Given the description of an element on the screen output the (x, y) to click on. 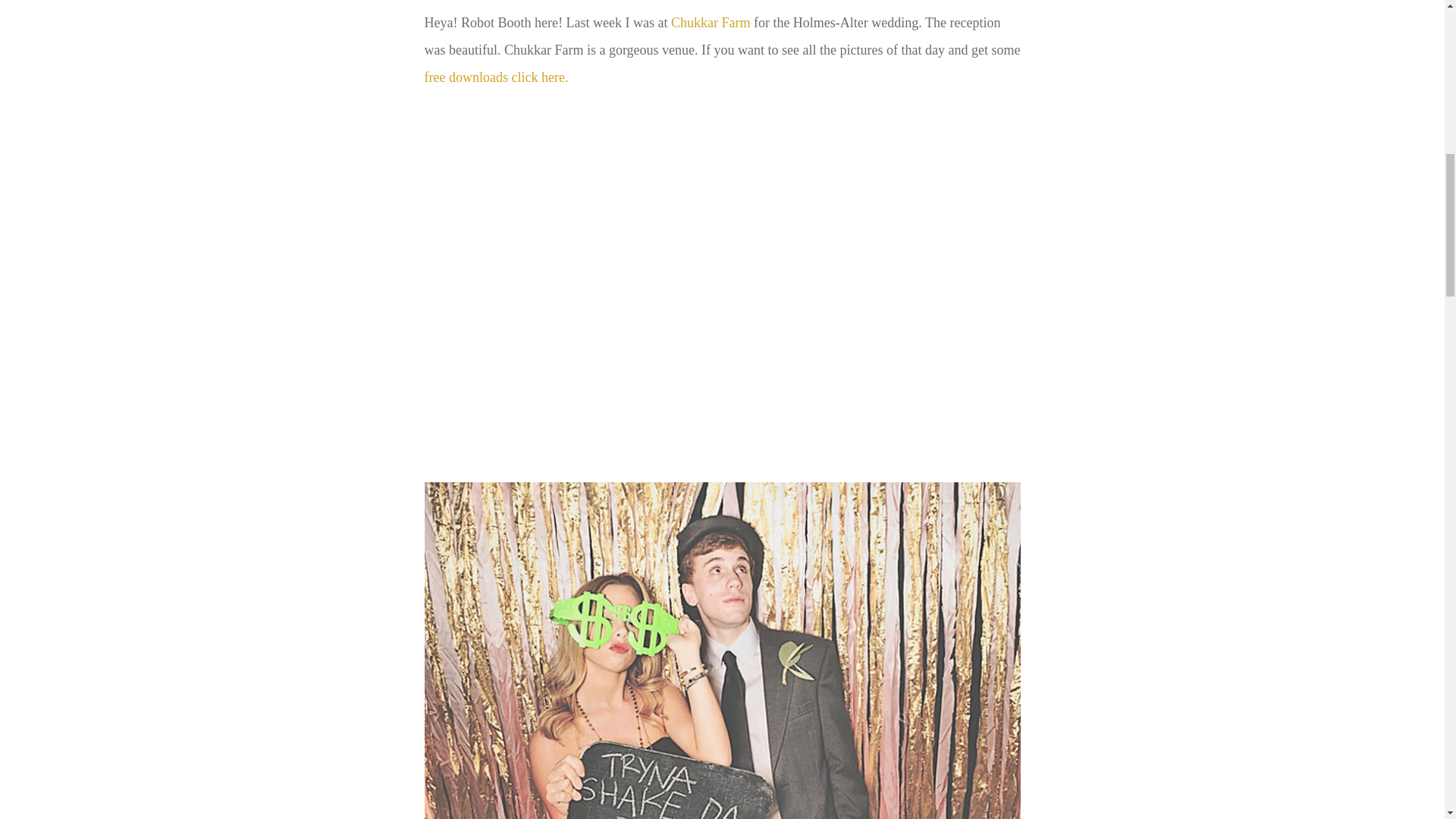
free downloads click here. (497, 77)
Chukkar Farm (710, 22)
